Given the description of an element on the screen output the (x, y) to click on. 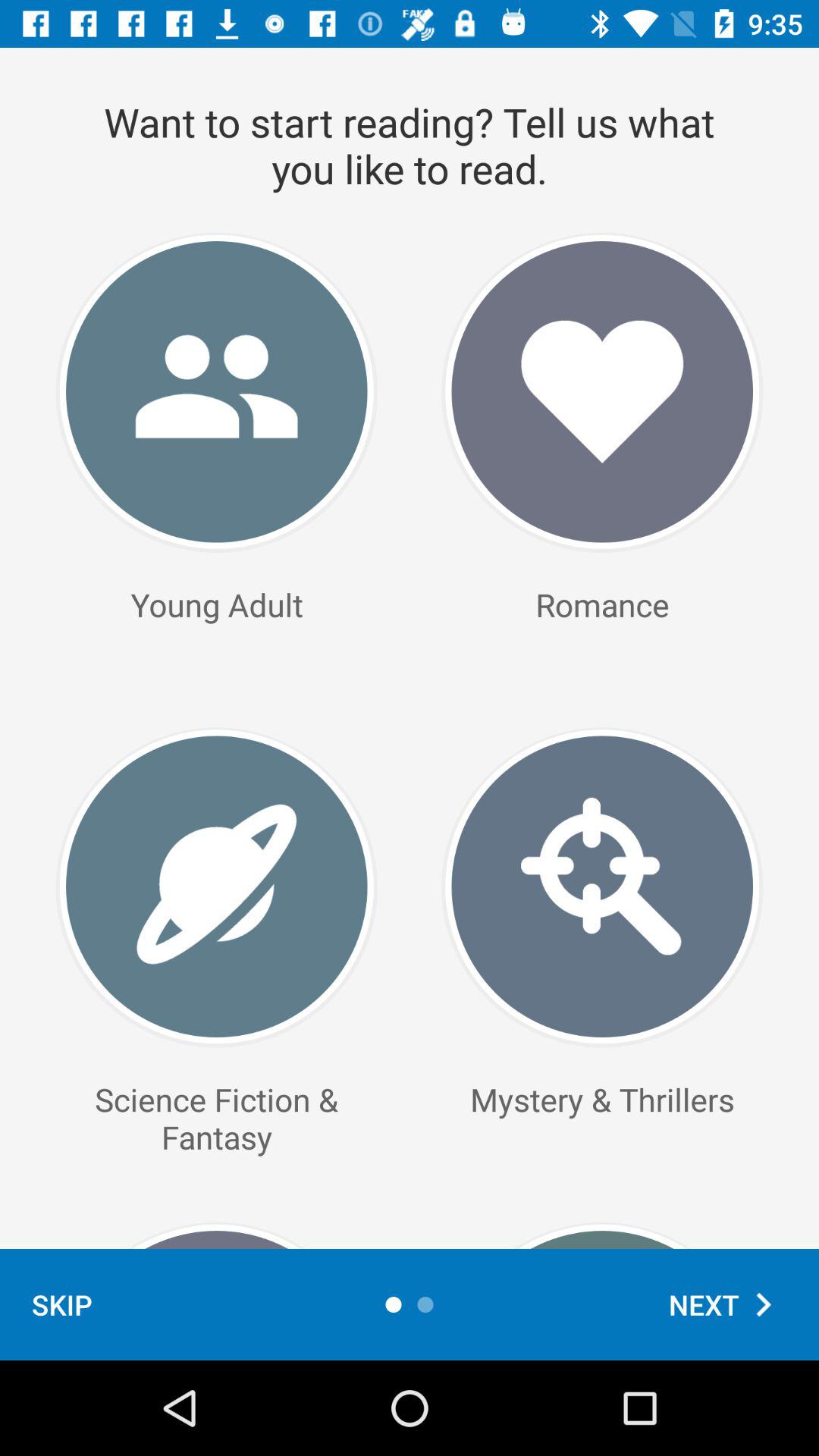
launch the item below mystery & thrillers icon (728, 1304)
